Given the description of an element on the screen output the (x, y) to click on. 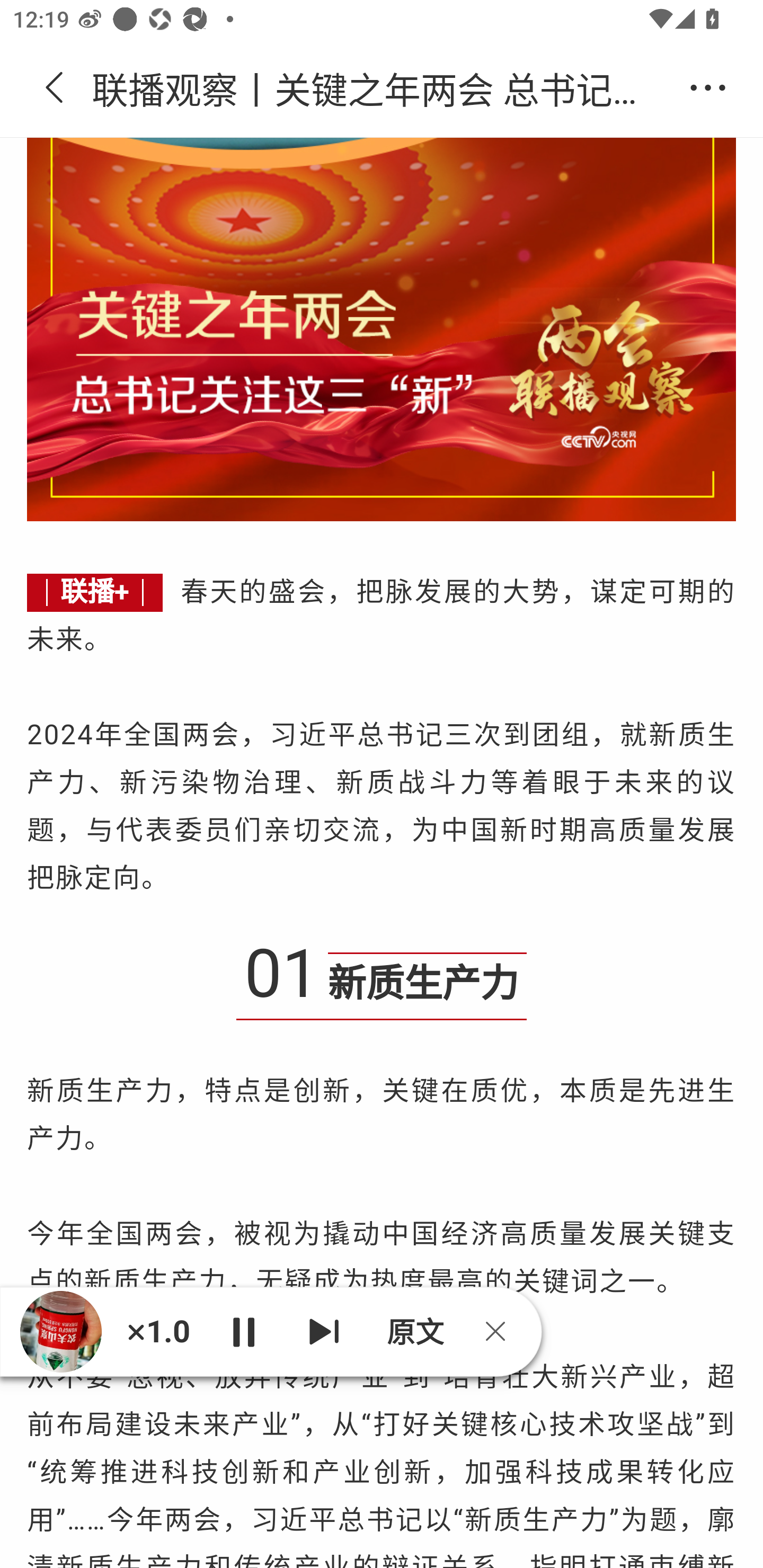
联播观察丨关键之年两会 总书记关注这三“新” (381, 87)
 返回 (54, 87)
 更多 (707, 87)
 播放 (242, 1330)
 下一个 (323, 1330)
 关闭 (501, 1330)
播放器 (61, 1331)
原文 (413, 1331)
 1.0 (157, 1330)
